Given the description of an element on the screen output the (x, y) to click on. 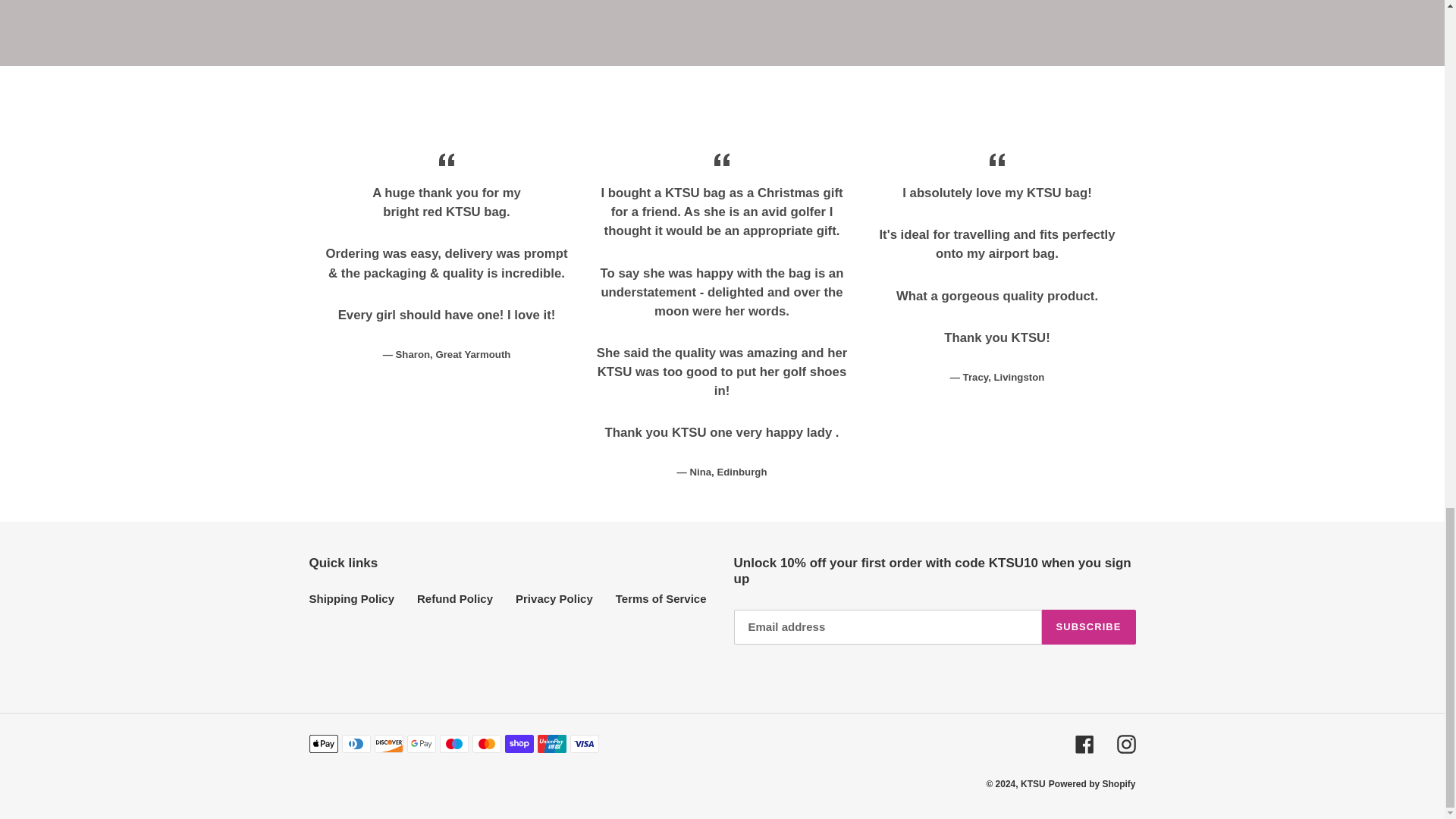
Powered by Shopify (1091, 783)
SUBSCRIBE (1088, 626)
Refund Policy (454, 598)
KTSU (1032, 783)
Instagram (1125, 743)
Terms of Service (660, 598)
Privacy Policy (553, 598)
Facebook (1084, 743)
Shipping Policy (351, 598)
